Given the description of an element on the screen output the (x, y) to click on. 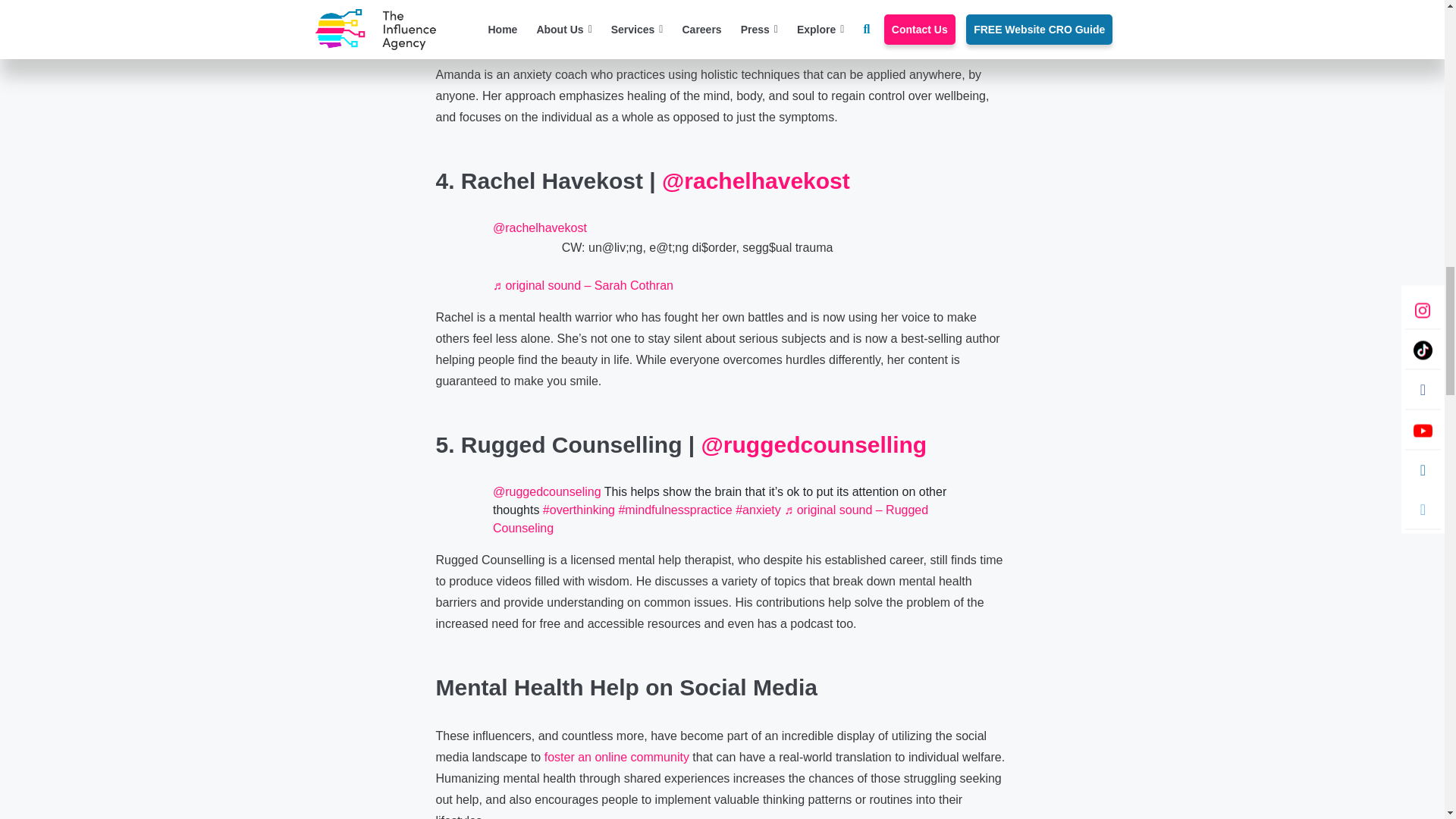
amazonmusicjinglebelltok (708, 24)
anxietyschool (836, 6)
anxietytips (551, 24)
anxiety (703, 15)
healing (610, 24)
selfcare (813, 24)
